Given the description of an element on the screen output the (x, y) to click on. 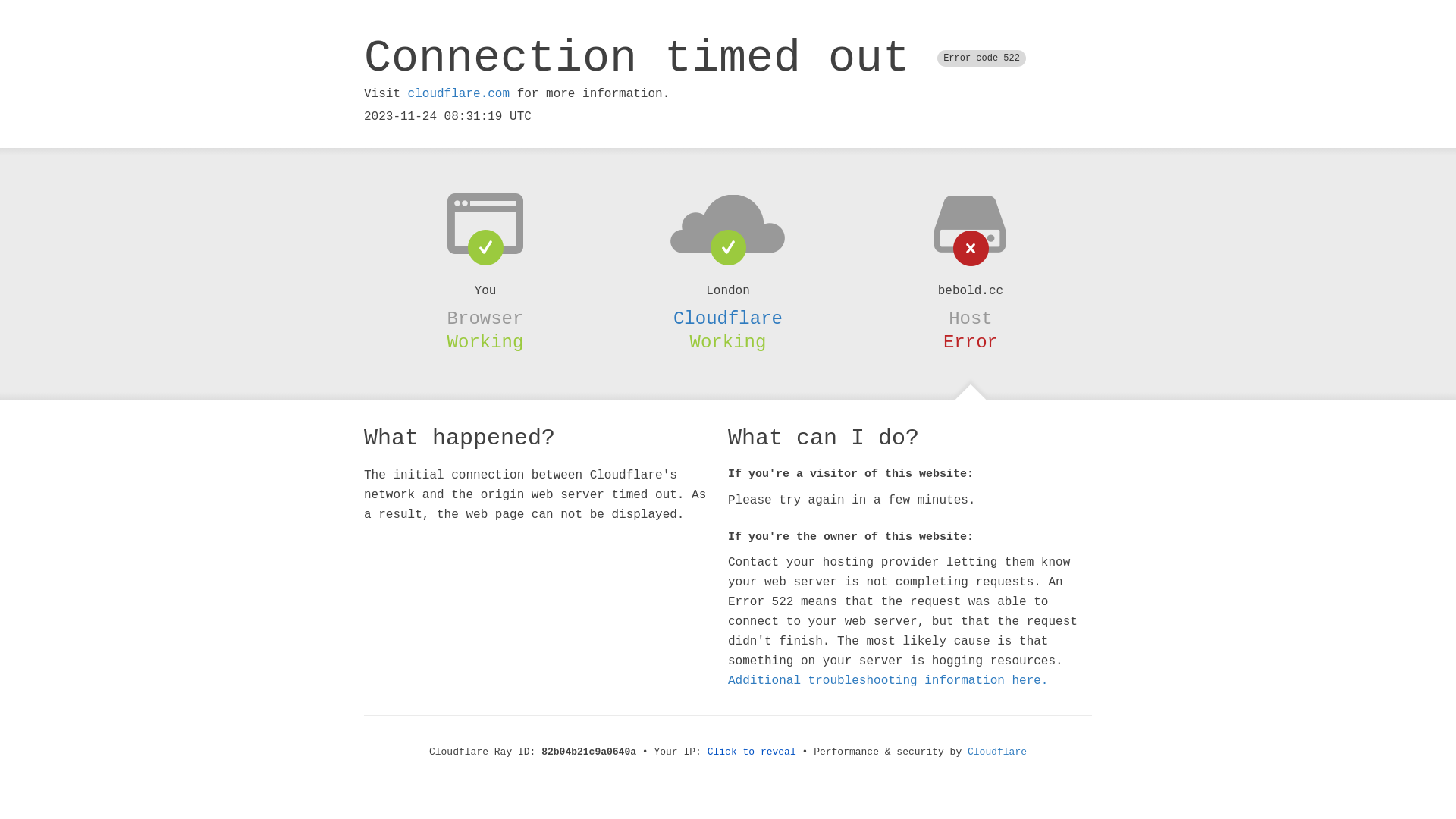
cloudflare.com Element type: text (458, 93)
Additional troubleshooting information here. Element type: text (888, 680)
Cloudflare Element type: text (727, 318)
Cloudflare Element type: text (996, 751)
Click to reveal Element type: text (751, 751)
